Given the description of an element on the screen output the (x, y) to click on. 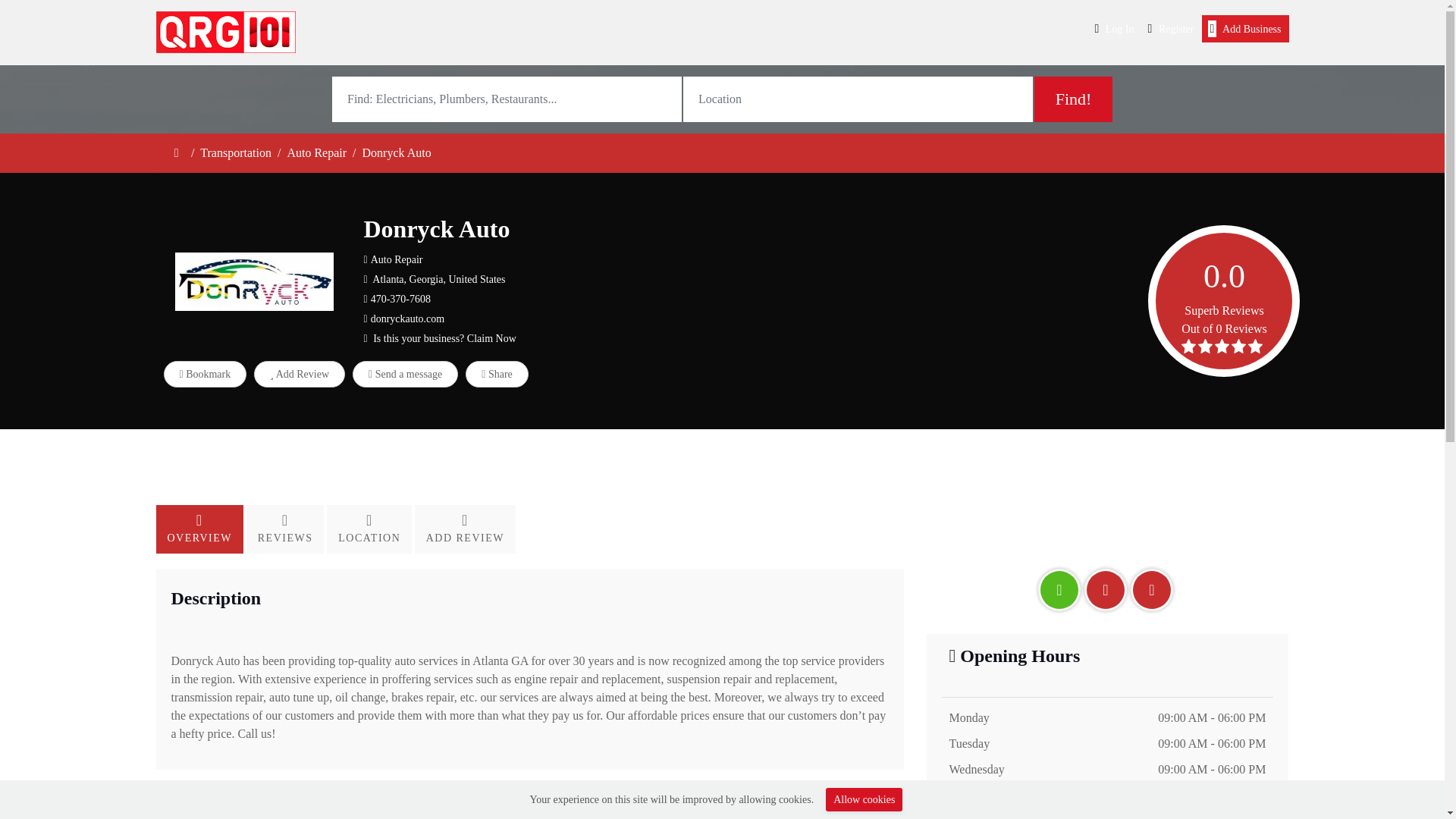
Claim Now (491, 337)
QRG 101 (226, 32)
Share (496, 374)
donryckauto.com (408, 318)
Log In (1114, 28)
Bookmark (205, 374)
Transportation (235, 152)
REVIEWS (286, 529)
Auto Repair (316, 152)
ADD REVIEW (464, 529)
Find! (1072, 99)
 star rating (1223, 345)
OVERVIEW (200, 529)
470-370-7608 (400, 298)
Add Business (1245, 28)
